Given the description of an element on the screen output the (x, y) to click on. 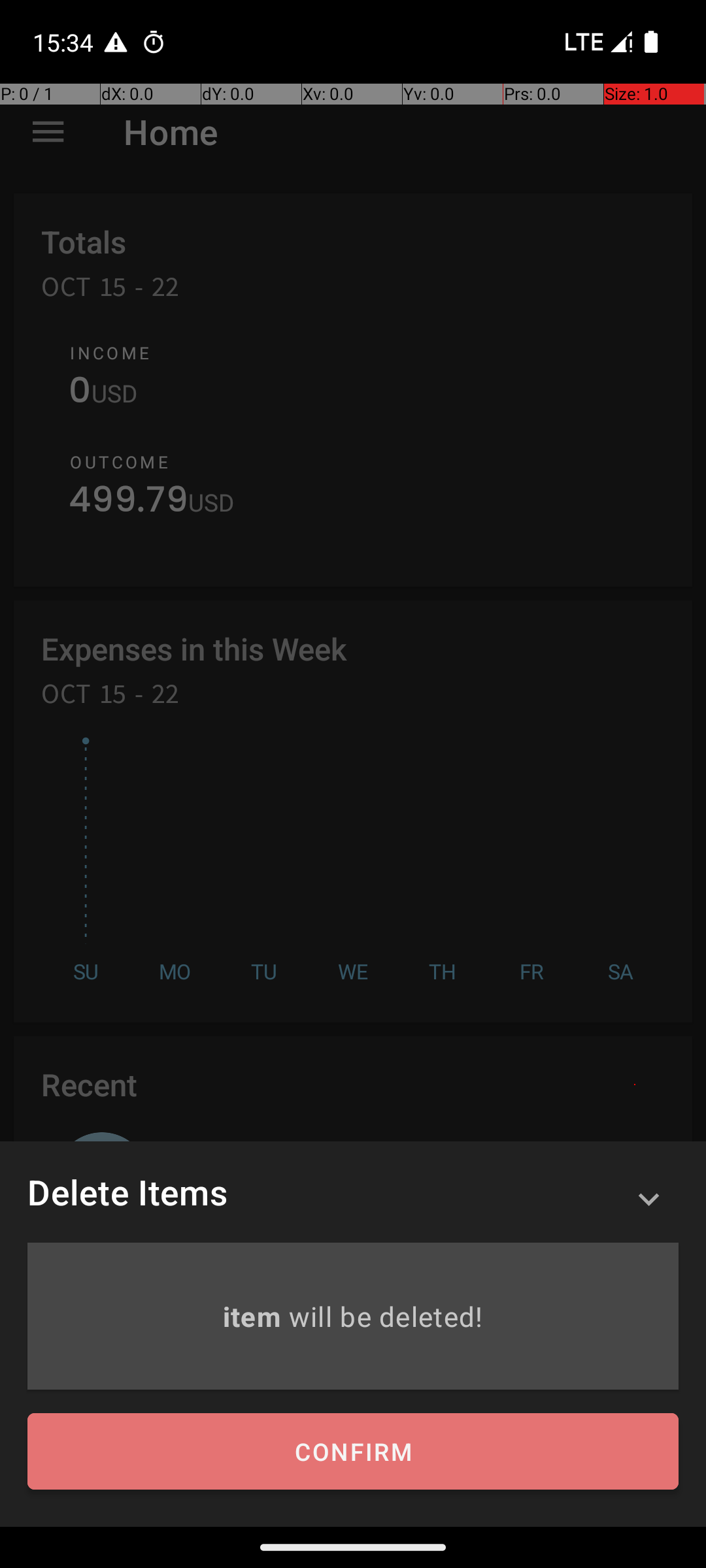
Delete Items Element type: android.widget.TextView (127, 1191)
item  Element type: android.widget.TextView (255, 1315)
will be deleted! Element type: android.widget.TextView (385, 1315)
CONFIRM Element type: android.widget.Button (352, 1451)
